Given the description of an element on the screen output the (x, y) to click on. 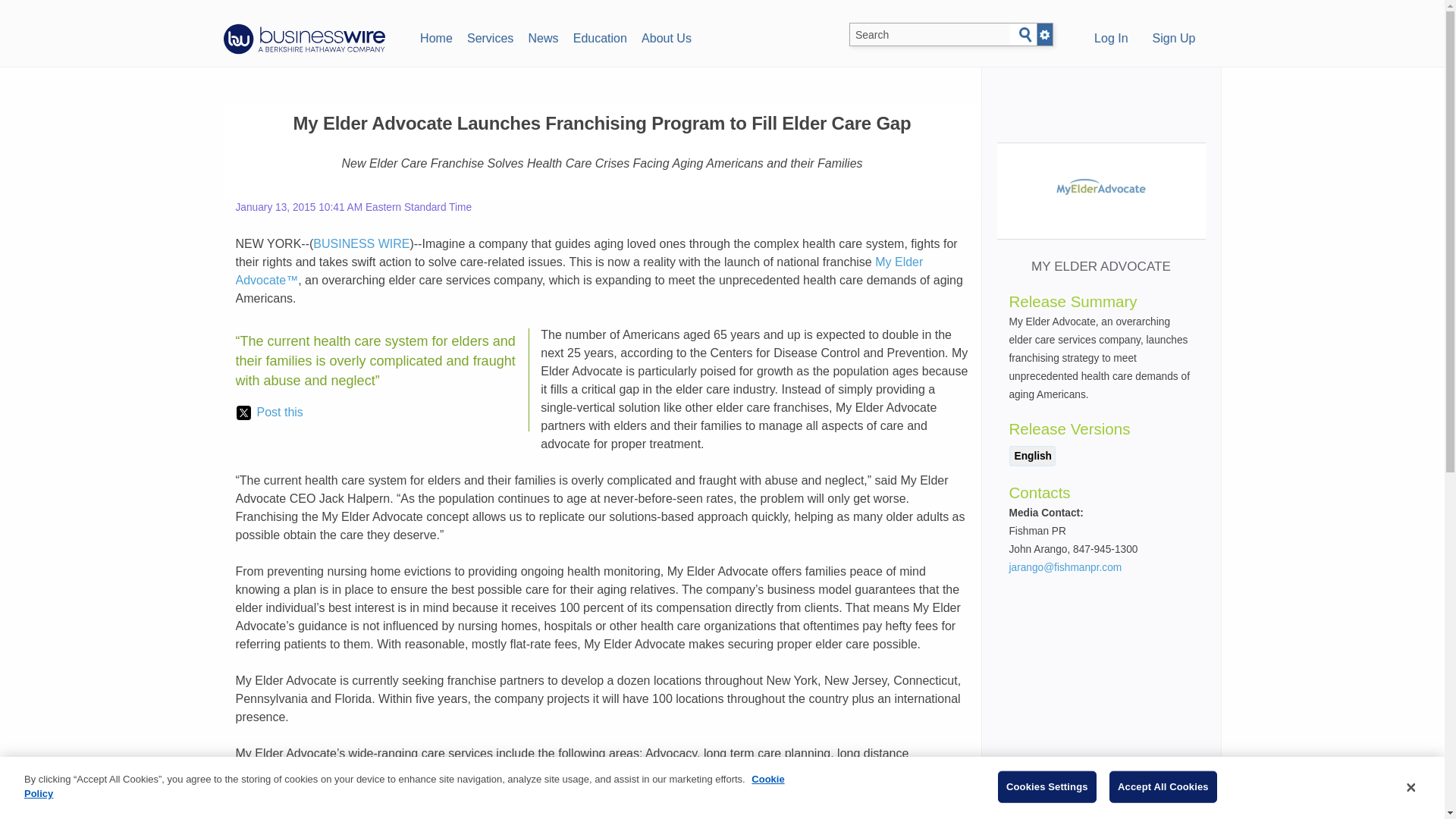
Post this (269, 412)
Home (436, 36)
Search BusinessWire.com (930, 34)
News (543, 36)
BUSINESS WIRE (361, 243)
Services (490, 36)
Search (1025, 34)
About Us (665, 36)
Education (599, 36)
